Given the description of an element on the screen output the (x, y) to click on. 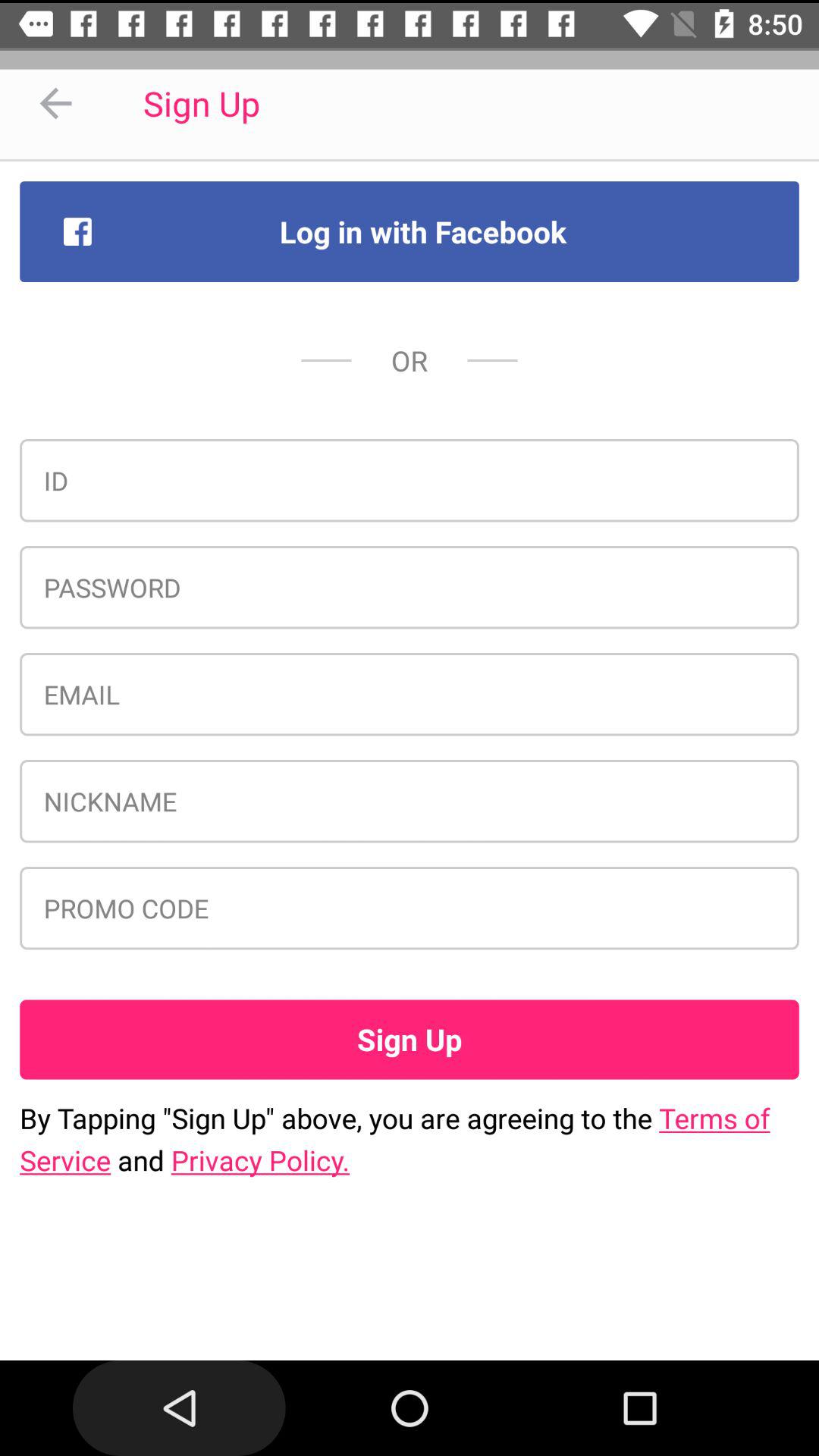
choose log in with icon (409, 231)
